Given the description of an element on the screen output the (x, y) to click on. 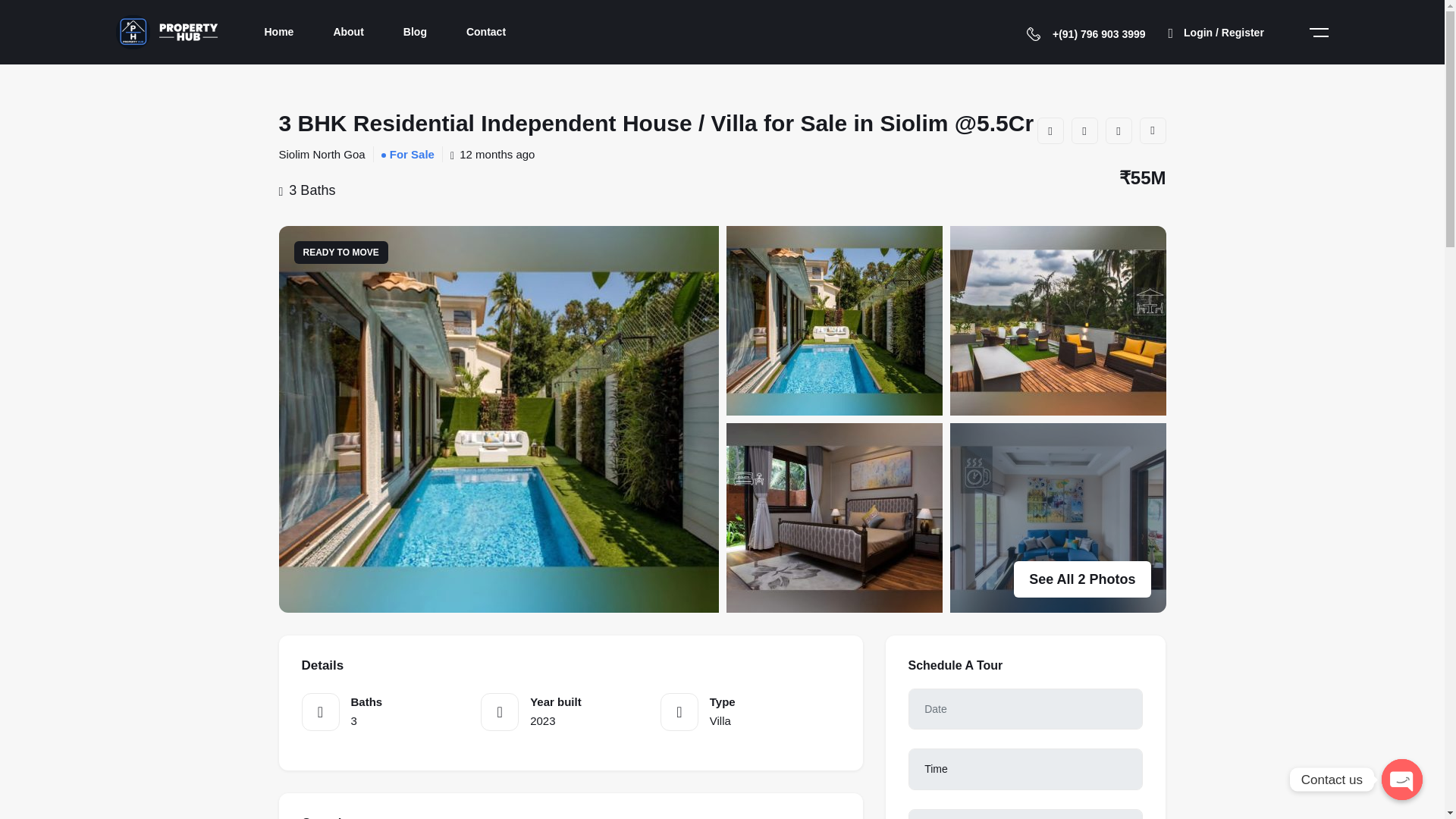
For Sale (411, 154)
Siolim North Goa (322, 154)
About (347, 32)
Home (279, 32)
Login (1216, 32)
Contact (485, 32)
Blog (414, 32)
